Given the description of an element on the screen output the (x, y) to click on. 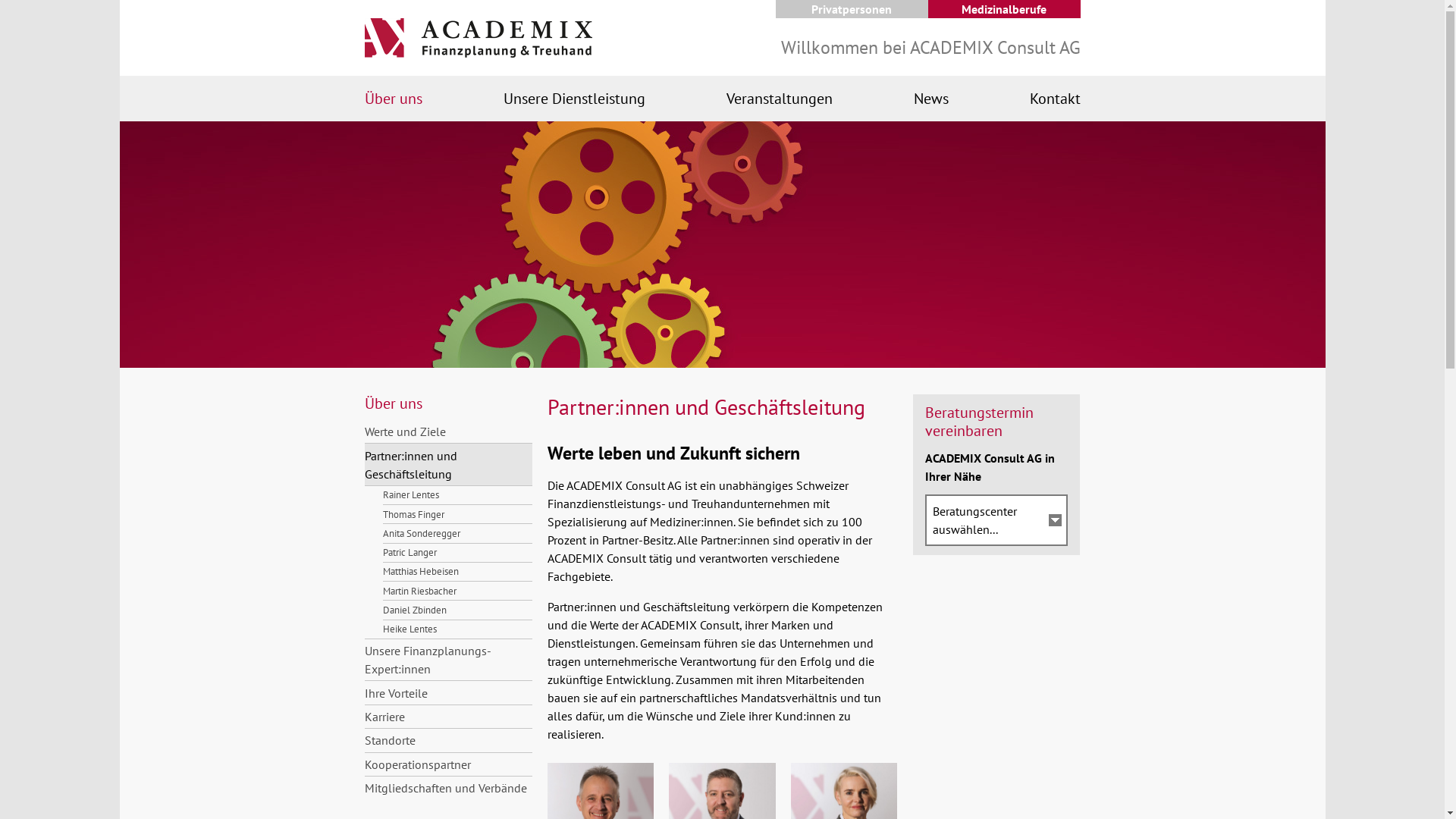
Daniel Zbinden Element type: text (456, 608)
Rainer Lentes Element type: text (456, 495)
Martin Riesbacher Element type: text (456, 589)
Matthias Hebeisen Element type: text (456, 570)
News Element type: text (930, 98)
Heike Lentes Element type: text (456, 628)
Veranstaltungen Element type: text (779, 98)
Werte und Ziele Element type: text (447, 431)
Unsere Dienstleistung Element type: text (574, 98)
Standorte Element type: text (447, 739)
Unsere Finanzplanungs-Expert:innen Element type: text (447, 659)
Kontakt Element type: text (1054, 98)
Ihre Vorteile Element type: text (447, 691)
Medizinalberufe Element type: text (1004, 9)
Kooperationspartner Element type: text (447, 763)
Anita Sonderegger Element type: text (456, 532)
Karriere Element type: text (447, 716)
Patric Langer Element type: text (456, 551)
Privatpersonen Element type: text (851, 9)
Thomas Finger Element type: text (456, 513)
